Given the description of an element on the screen output the (x, y) to click on. 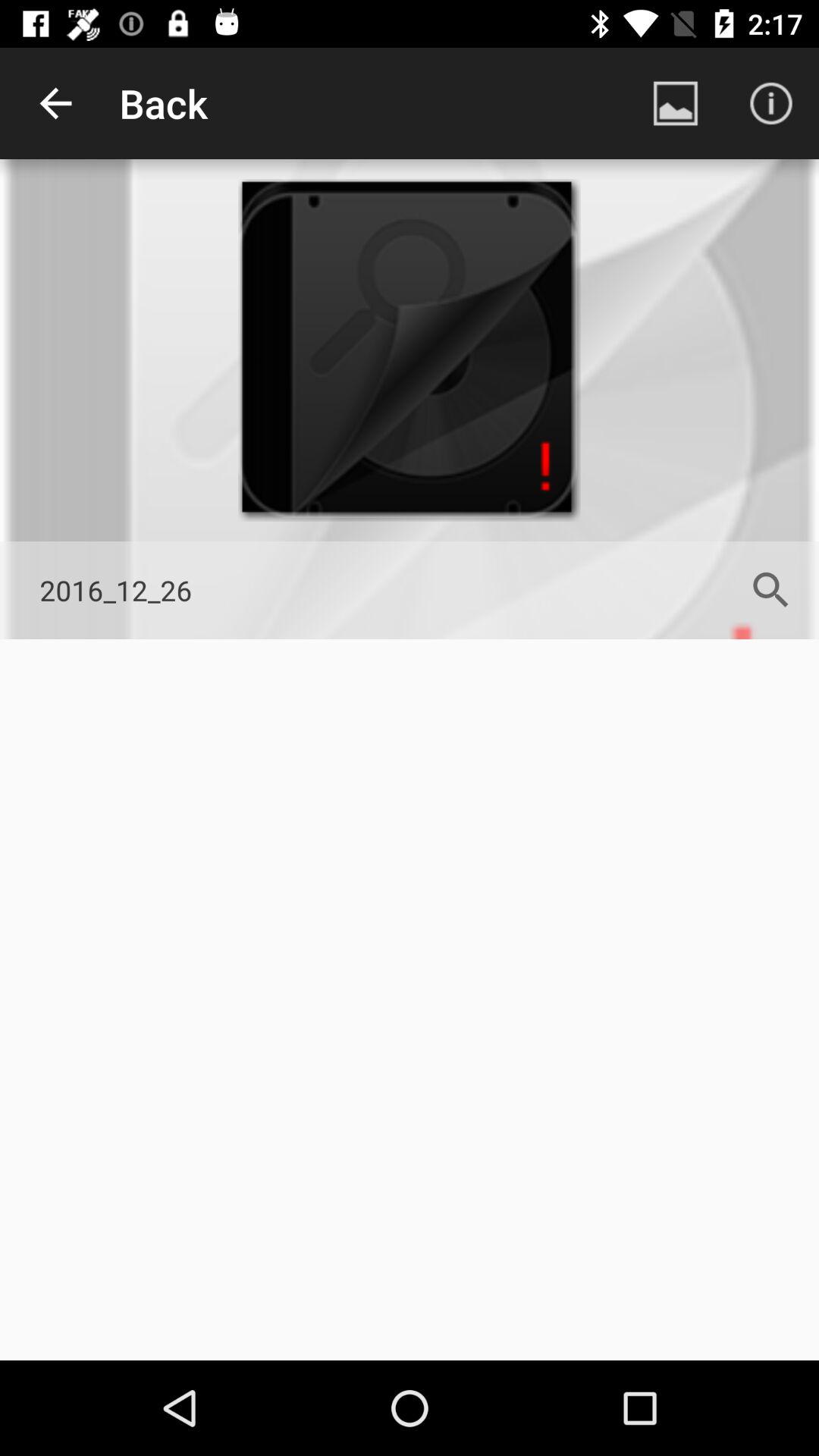
launch the item next to the back app (675, 103)
